Given the description of an element on the screen output the (x, y) to click on. 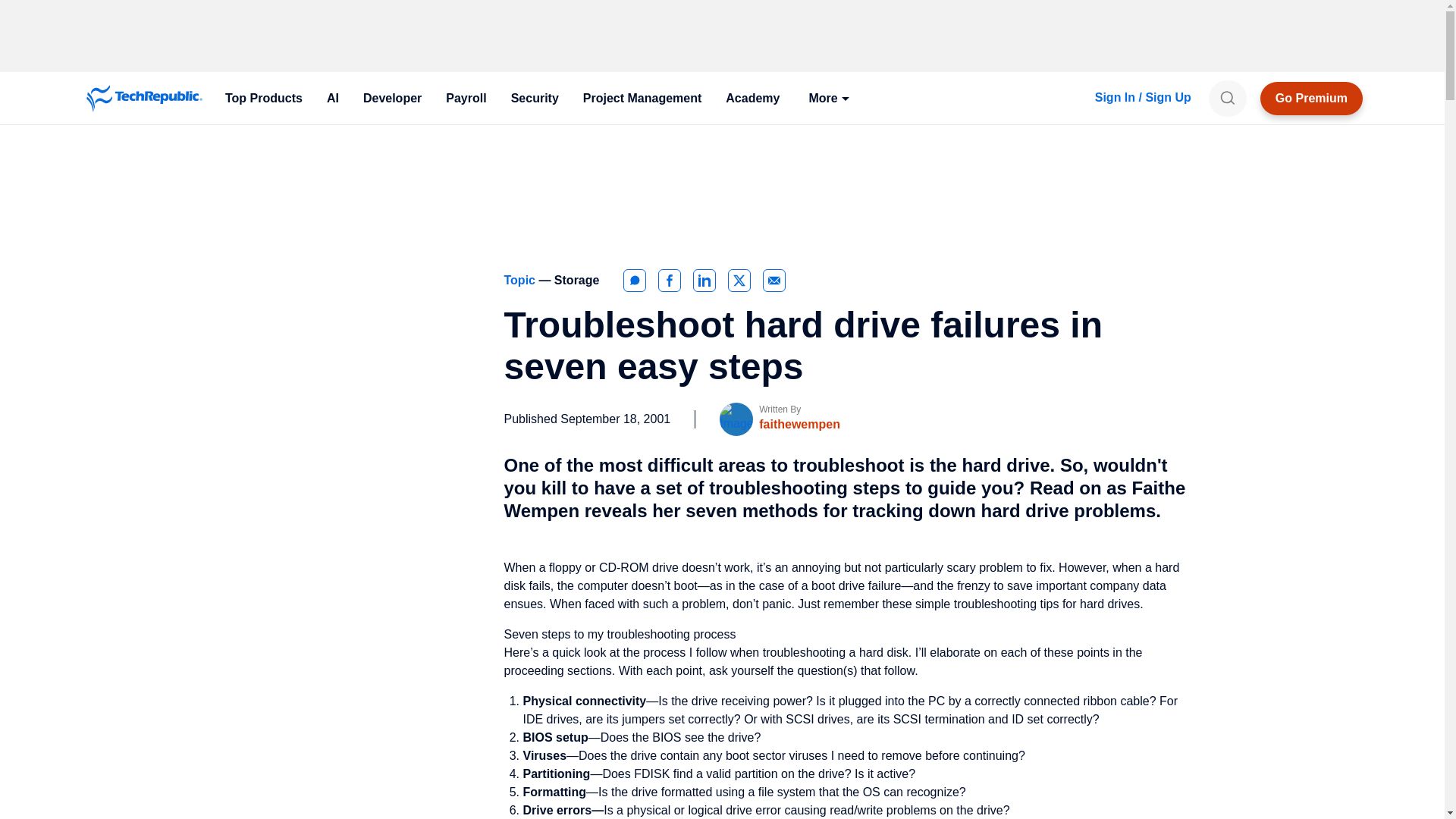
Developer (392, 98)
Payroll (465, 98)
TechRepublic (143, 98)
Project Management (641, 98)
Top Products (263, 98)
TechRepublic (143, 98)
Security (534, 98)
Go Premium (1311, 98)
Academy (752, 98)
Topic (520, 279)
